Given the description of an element on the screen output the (x, y) to click on. 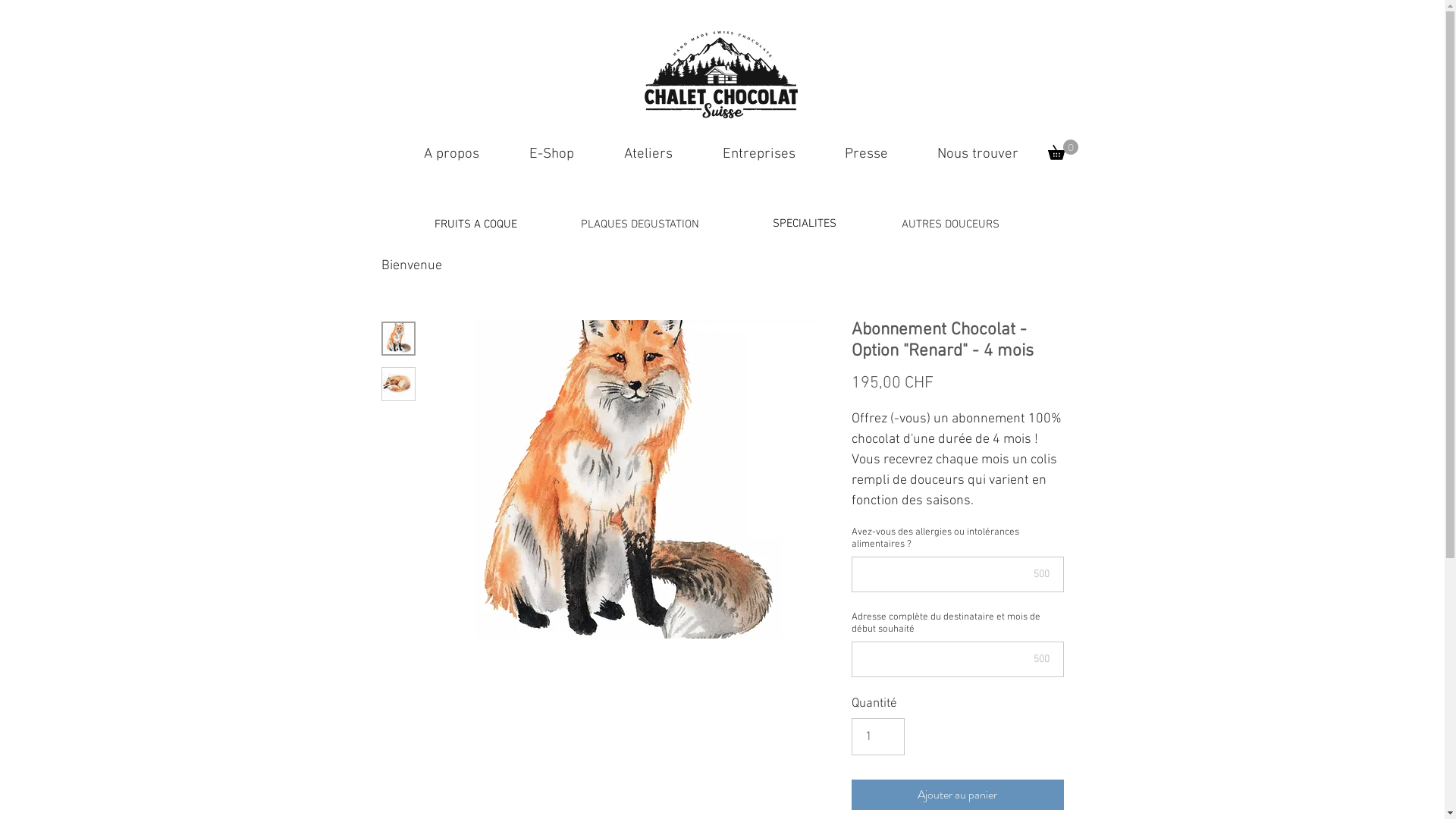
PLAQUES DEGUSTATION Element type: text (639, 223)
FRUITS A COQUE Element type: text (474, 223)
0 Element type: text (1063, 149)
A propos Element type: text (451, 154)
Ajouter au panier Element type: text (956, 794)
Bienvenue Element type: text (410, 265)
E-Shop Element type: text (550, 154)
Ateliers Element type: text (648, 154)
SPECIALITES Element type: text (803, 222)
Presse Element type: text (866, 154)
AUTRES DOUCEURS Element type: text (949, 223)
Nous trouver Element type: text (978, 154)
Entreprises Element type: text (758, 154)
